Given the description of an element on the screen output the (x, y) to click on. 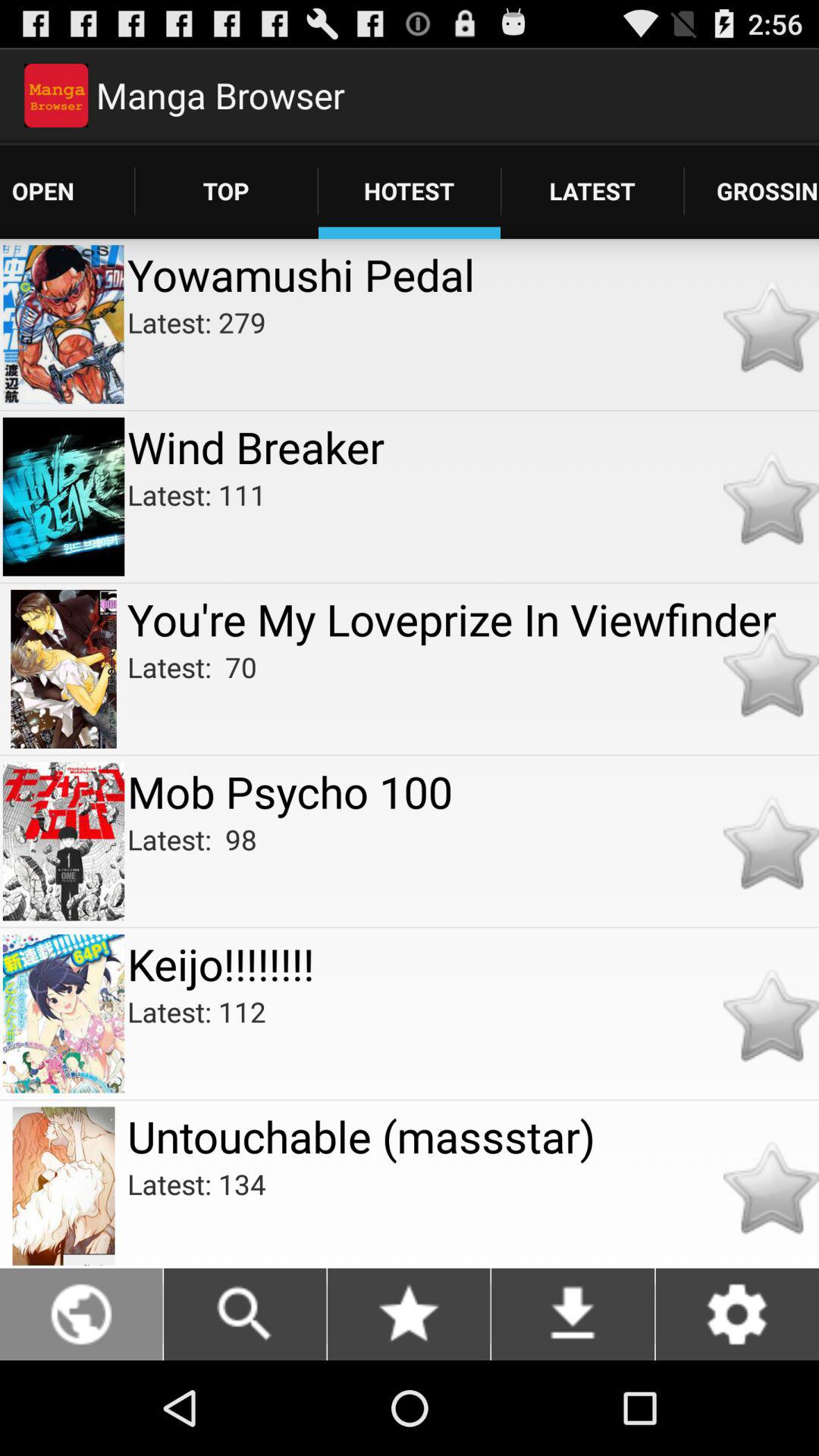
select the item above latest: 279 icon (473, 274)
